Given the description of an element on the screen output the (x, y) to click on. 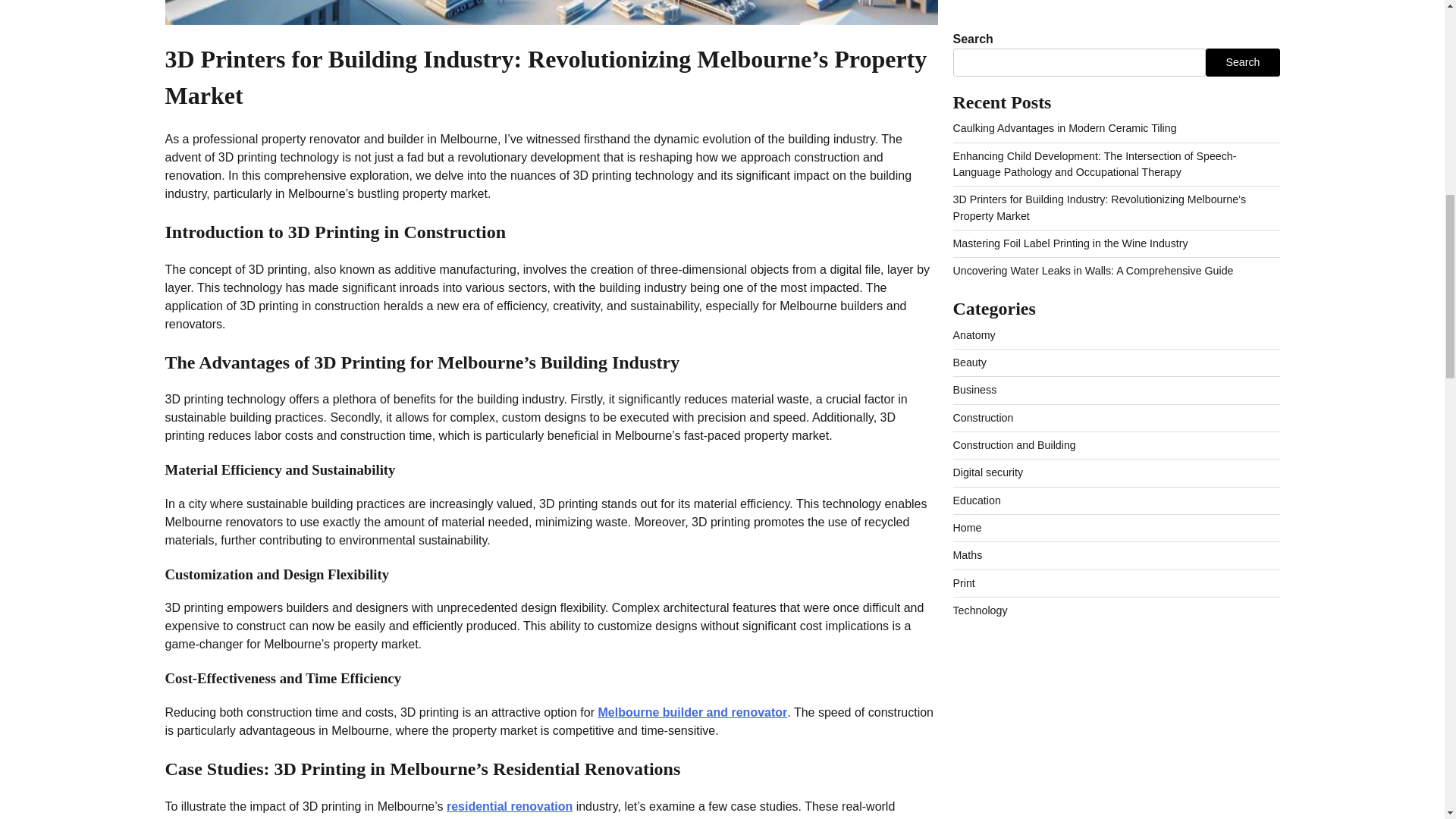
Melbourne builder and renovator (691, 712)
Melbourne builder and renovator (691, 712)
residential renovation (509, 806)
residential renovation (509, 806)
